Given the description of an element on the screen output the (x, y) to click on. 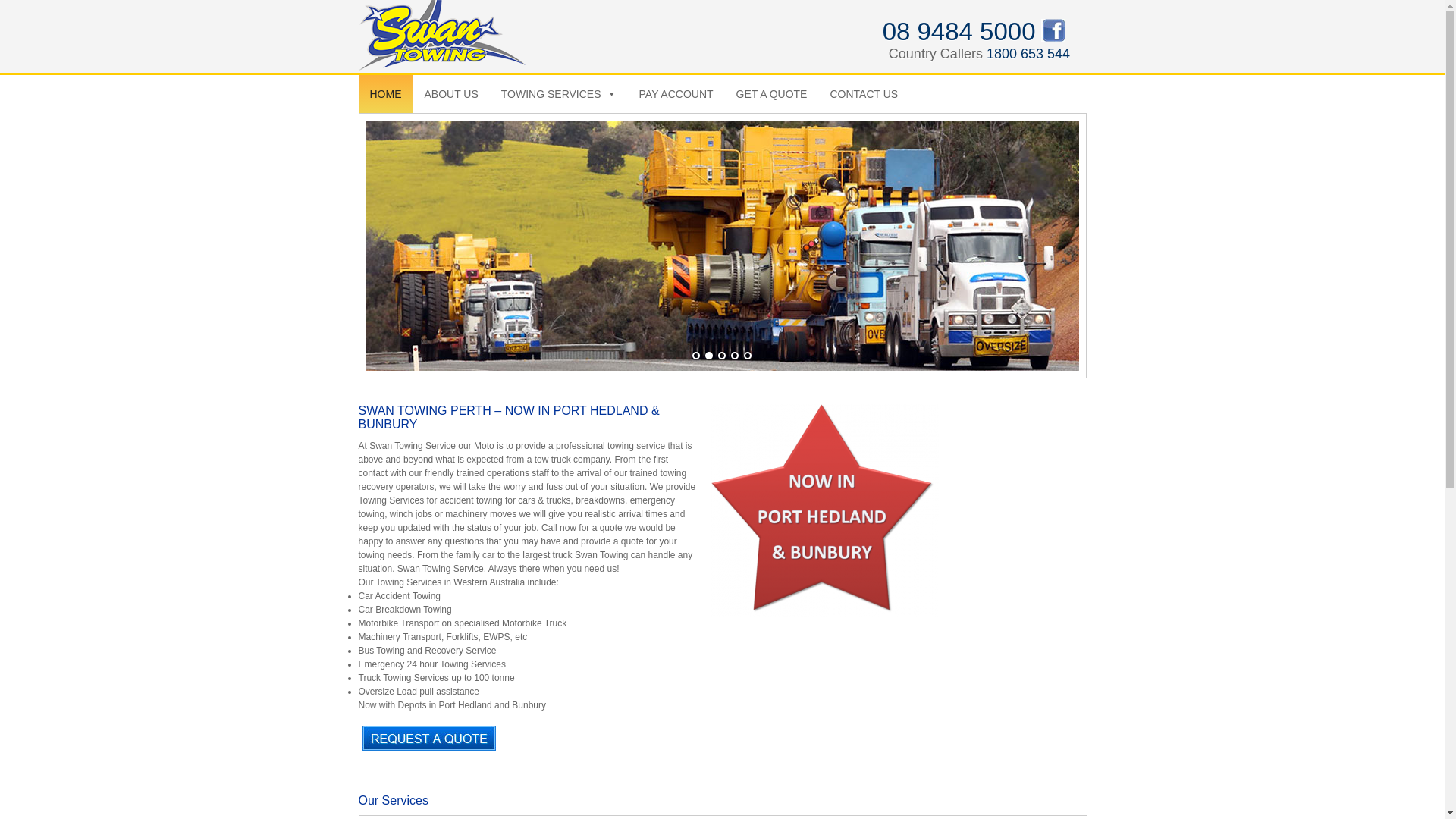
Click to view page Element type: hover (428, 739)
CONTACT US Element type: text (863, 93)
08 9484 5000 Element type: text (961, 36)
PAY ACCOUNT Element type: text (675, 93)
star Element type: hover (824, 510)
TOWING SERVICES Element type: text (558, 93)
GET A QUOTE Element type: text (771, 93)
HOME Element type: text (384, 93)
tow truck towing large mining trucks Element type: hover (721, 245)
ABOUT US Element type: text (450, 93)
1800 653 544 Element type: text (1028, 53)
